Given the description of an element on the screen output the (x, y) to click on. 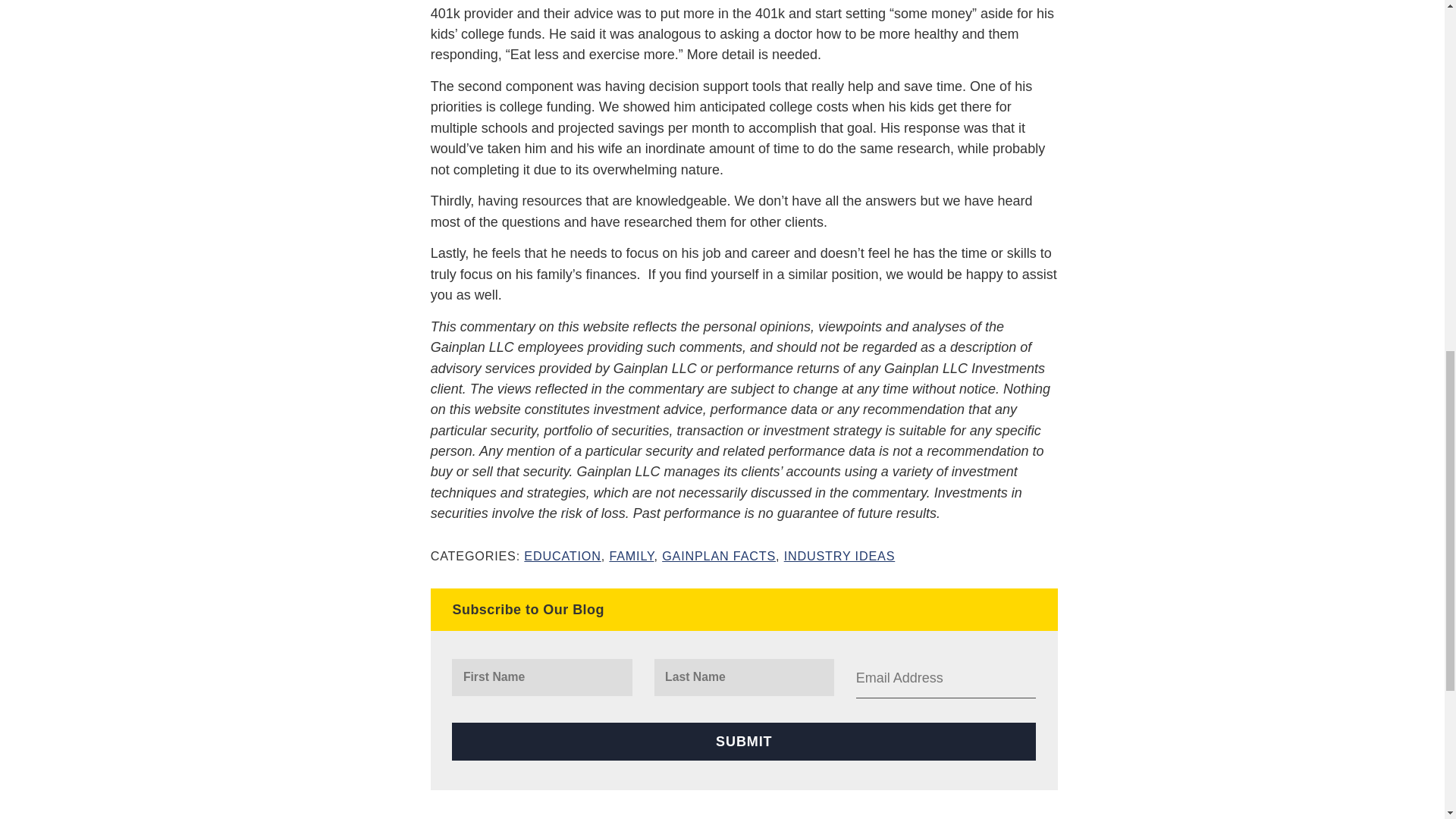
FAMILY (630, 555)
EDUCATION (561, 555)
INDUSTRY IDEAS (839, 555)
GAINPLAN FACTS (719, 555)
Submit (743, 741)
Submit (743, 741)
